Given the description of an element on the screen output the (x, y) to click on. 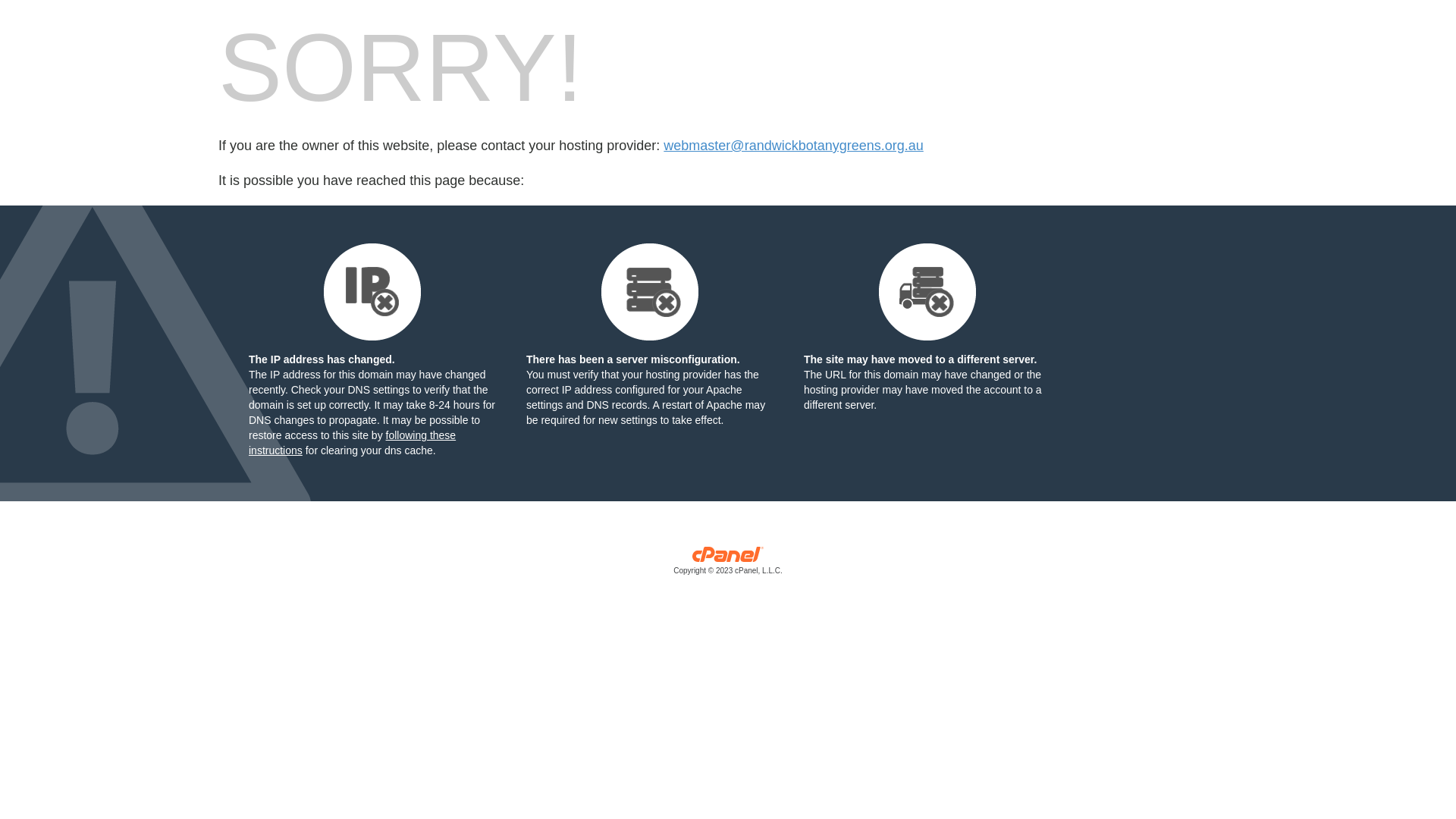
following these instructions Element type: text (351, 442)
webmaster@randwickbotanygreens.org.au Element type: text (792, 145)
